Given the description of an element on the screen output the (x, y) to click on. 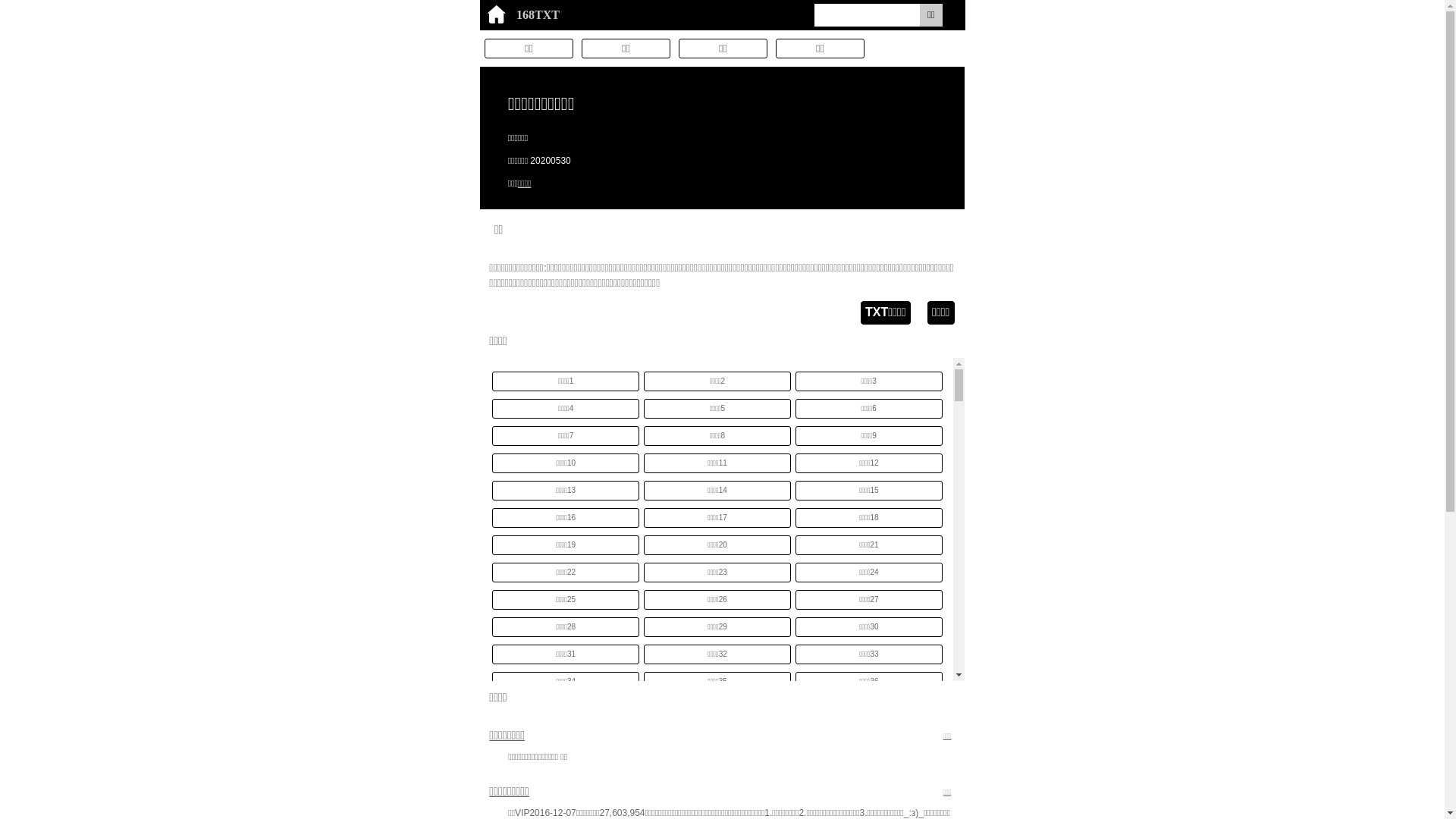
168TXT Element type: text (525, 15)
